Given the description of an element on the screen output the (x, y) to click on. 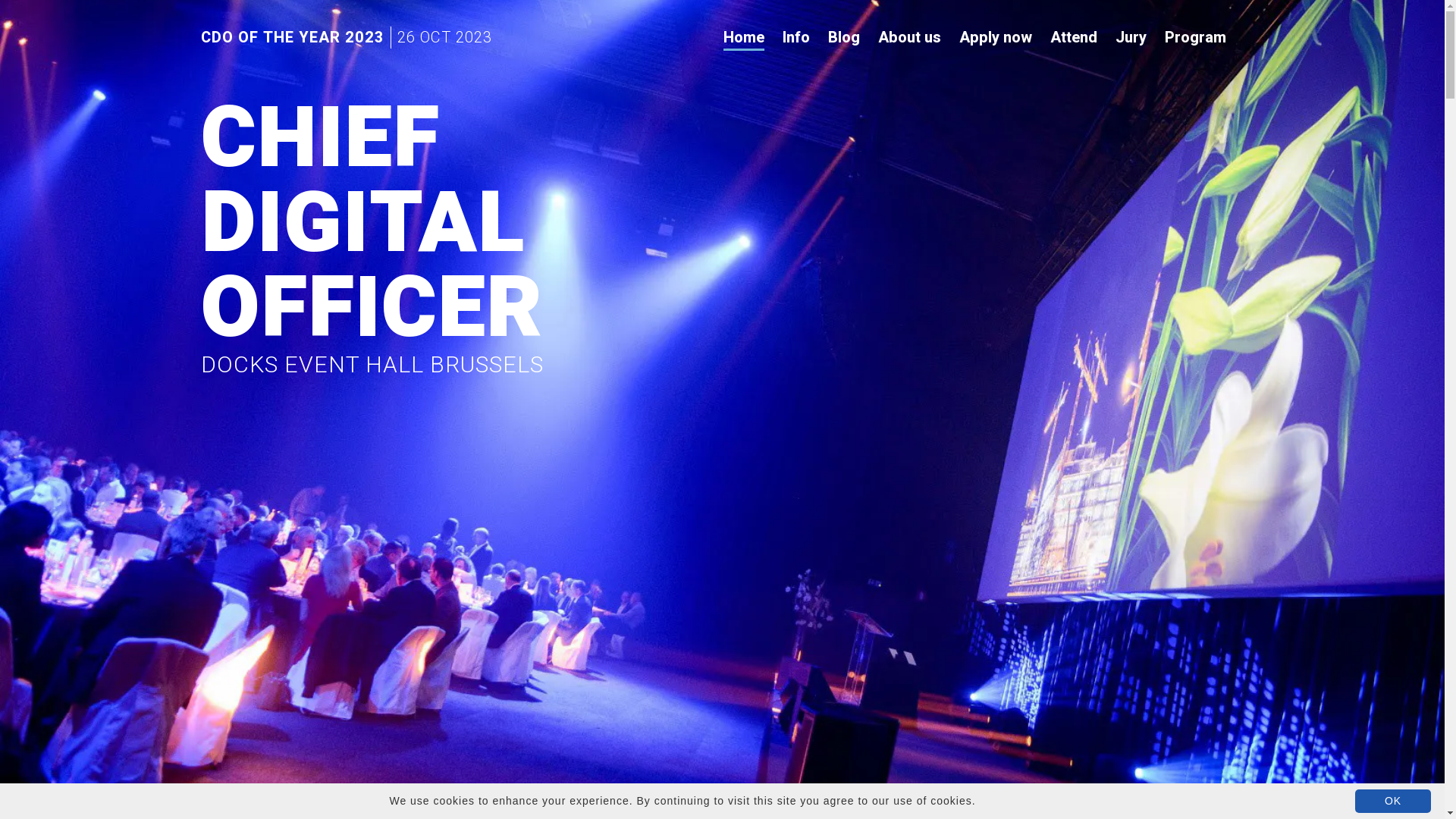
CDO OF THE YEAR 2023 Element type: text (291, 37)
Program Element type: text (1195, 37)
Info Element type: text (795, 37)
Jury Element type: text (1129, 37)
About us Element type: text (909, 37)
Attend Element type: text (1072, 37)
Home Element type: text (743, 38)
Blog Element type: text (843, 37)
Apply now Element type: text (994, 37)
